Given the description of an element on the screen output the (x, y) to click on. 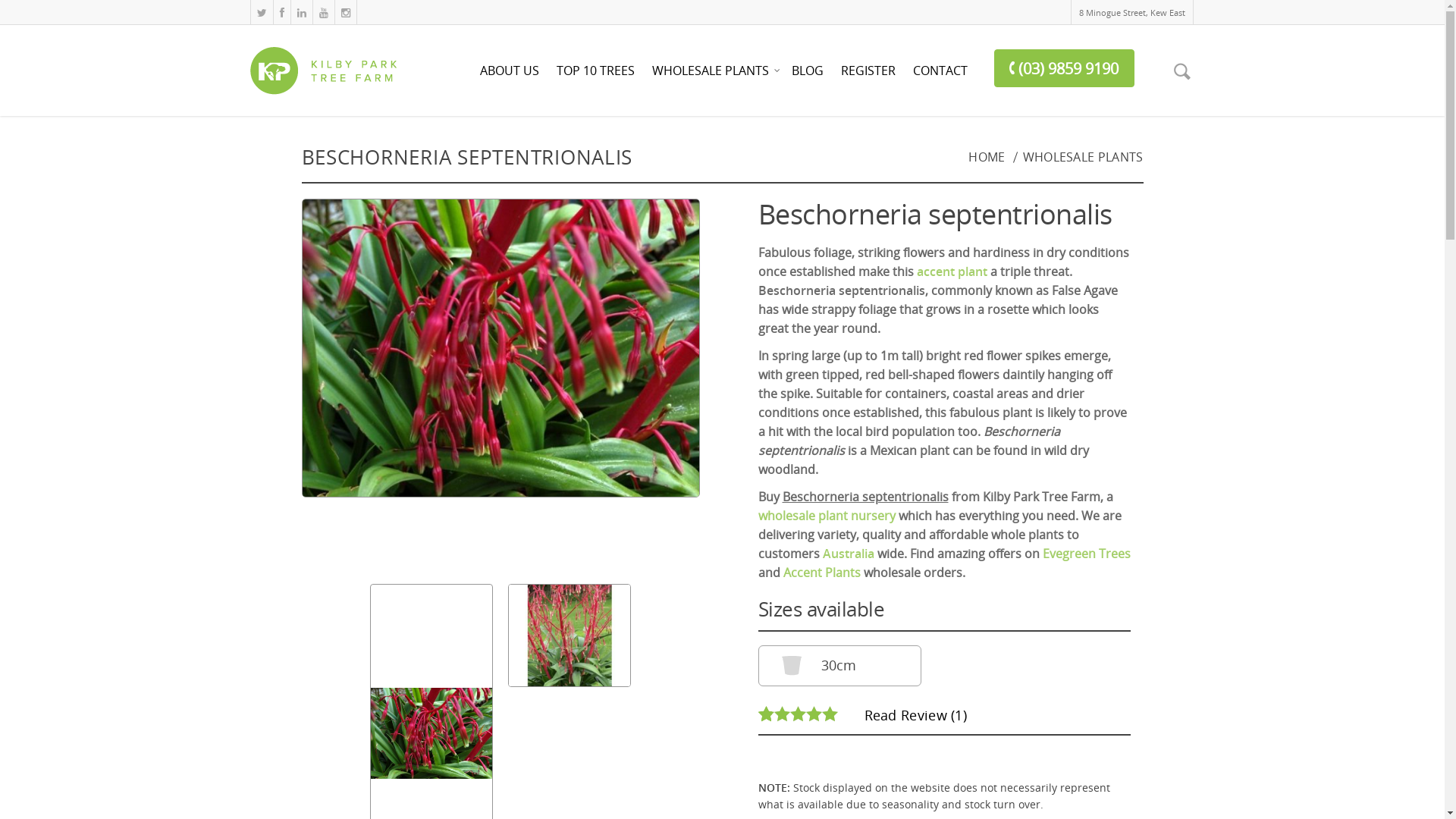
wholesale plant nursery Element type: text (826, 515)
ABOUT US Element type: text (509, 81)
CONTACT Element type: text (940, 81)
REGISTER Element type: text (868, 81)
WHOLESALE PLANTS Element type: text (1082, 156)
(03) 9859 9190 Element type: text (1064, 68)
Australia Element type: text (847, 553)
TOP 10 TREES Element type: text (595, 81)
Evegreen Trees Element type: text (1085, 553)
Read Review (1) Element type: text (915, 715)
Accent Plants Element type: text (820, 572)
accent plant Element type: text (951, 271)
BLOG Element type: text (807, 81)
WHOLESALE PLANTS Element type: text (713, 81)
HOME Element type: text (986, 156)
8 Minogue Street, Kew East Element type: text (1131, 12)
